Given the description of an element on the screen output the (x, y) to click on. 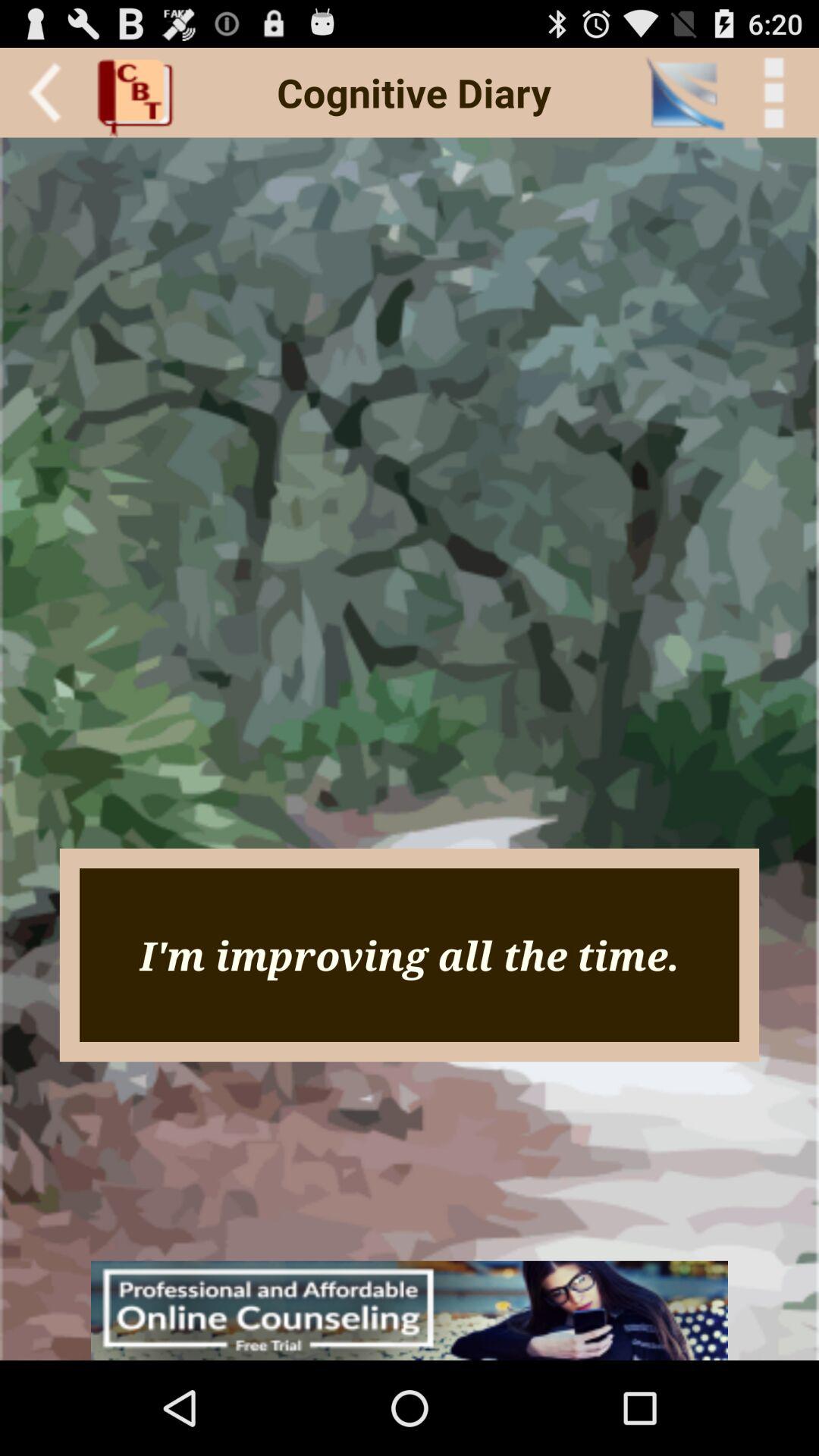
tap item at the bottom (409, 1310)
